Given the description of an element on the screen output the (x, y) to click on. 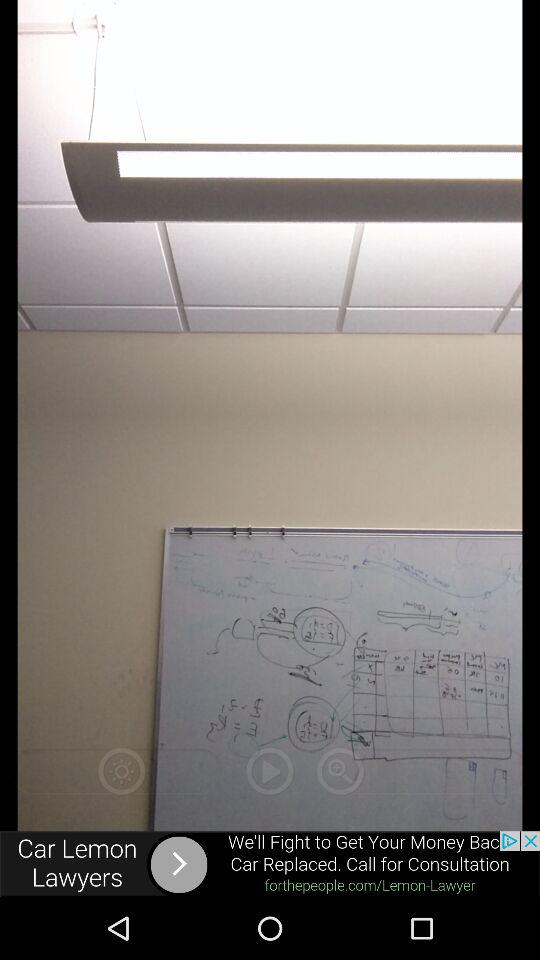
play (269, 771)
